Given the description of an element on the screen output the (x, y) to click on. 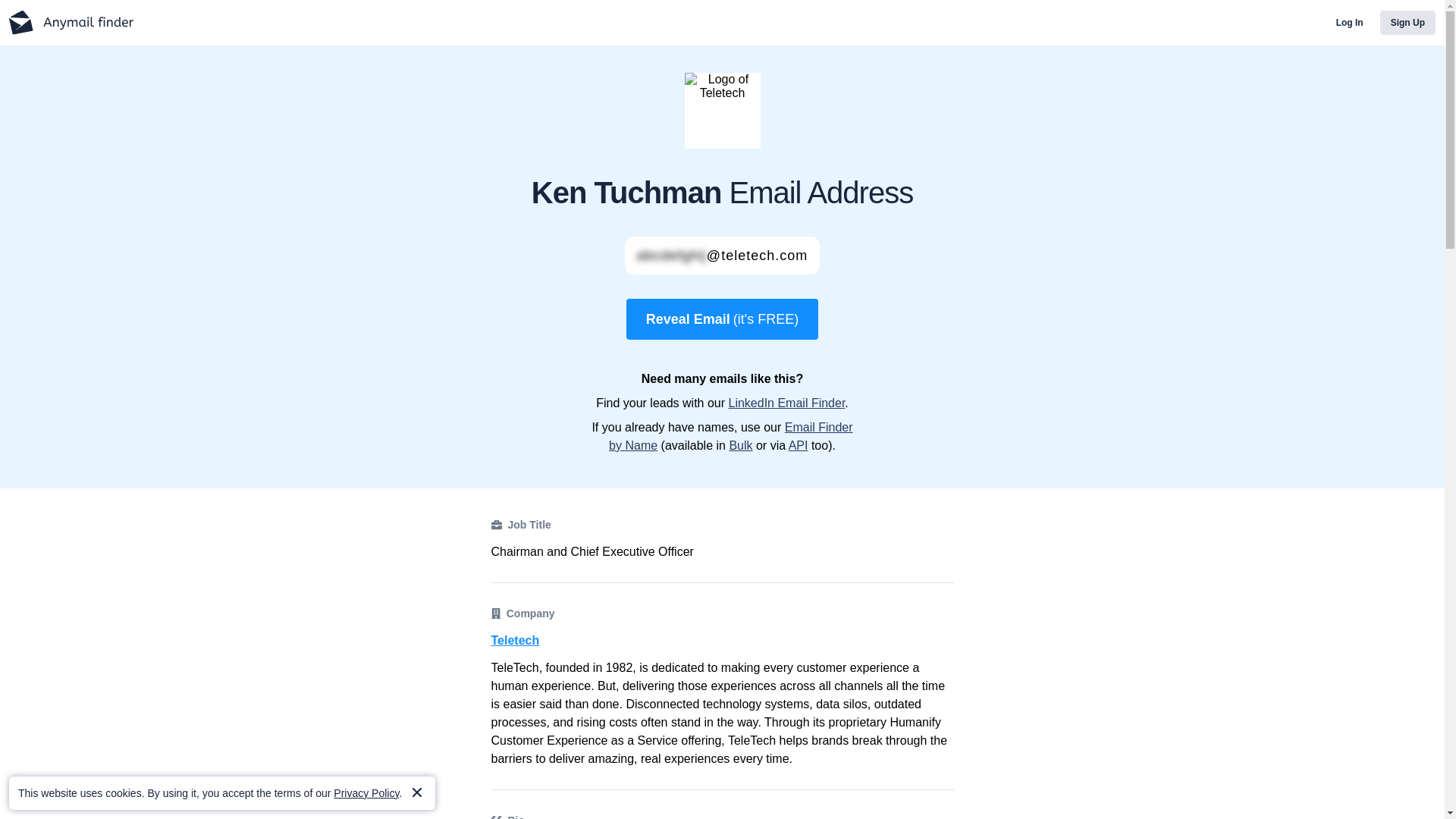
Email Finder by Name (730, 436)
Log In (1349, 22)
API (798, 445)
LinkedIn Email Finder (786, 402)
Sign Up (1407, 22)
Teletech (722, 640)
Bulk (740, 445)
